Given the description of an element on the screen output the (x, y) to click on. 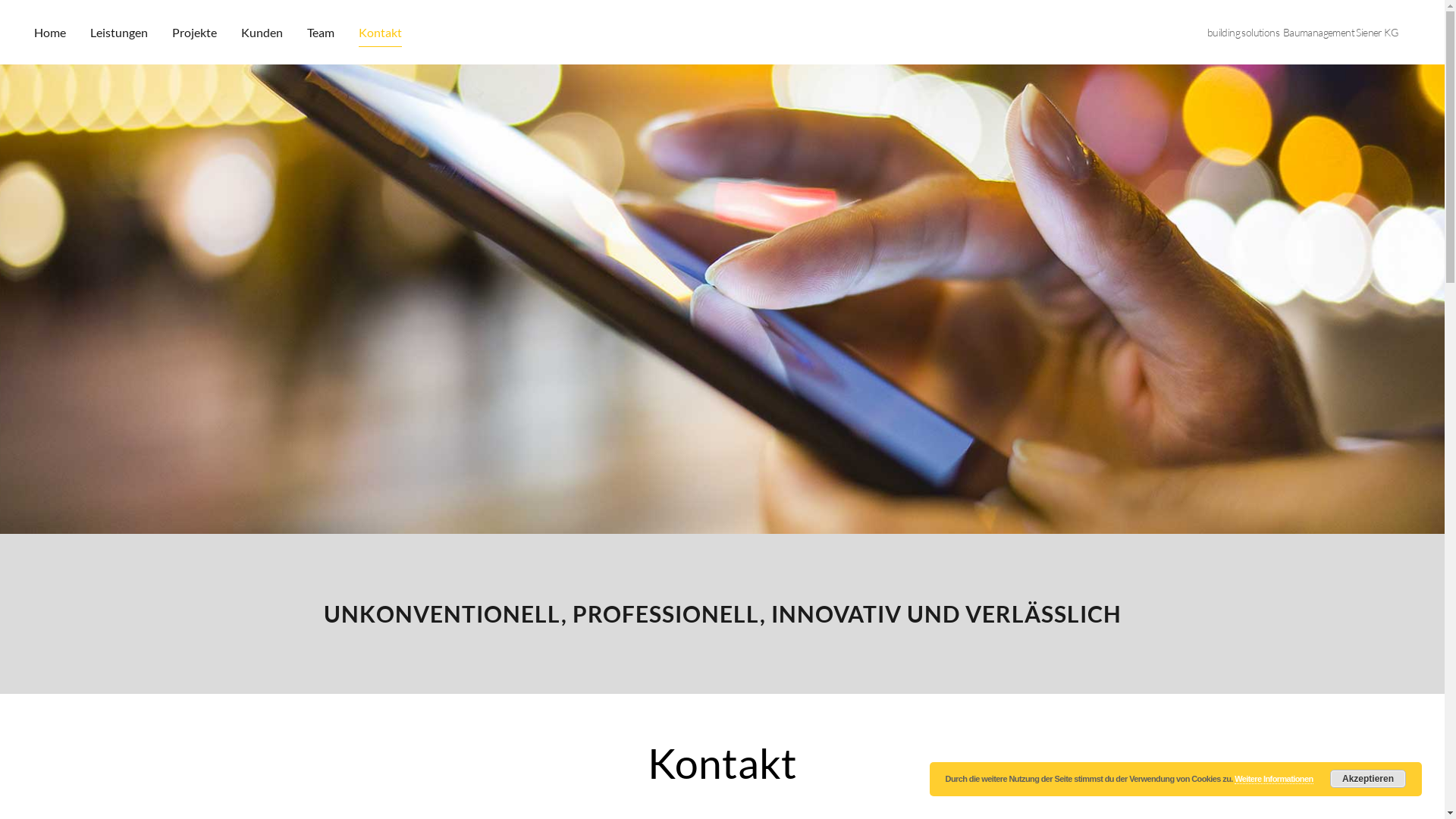
Kunden Element type: text (261, 32)
Projekte Element type: text (194, 32)
Team Element type: text (320, 32)
Akzeptieren Element type: text (1367, 778)
Kontakt Element type: text (380, 32)
Leistungen Element type: text (119, 32)
Home Element type: text (56, 32)
Weitere Informationen Element type: text (1273, 779)
